Given the description of an element on the screen output the (x, y) to click on. 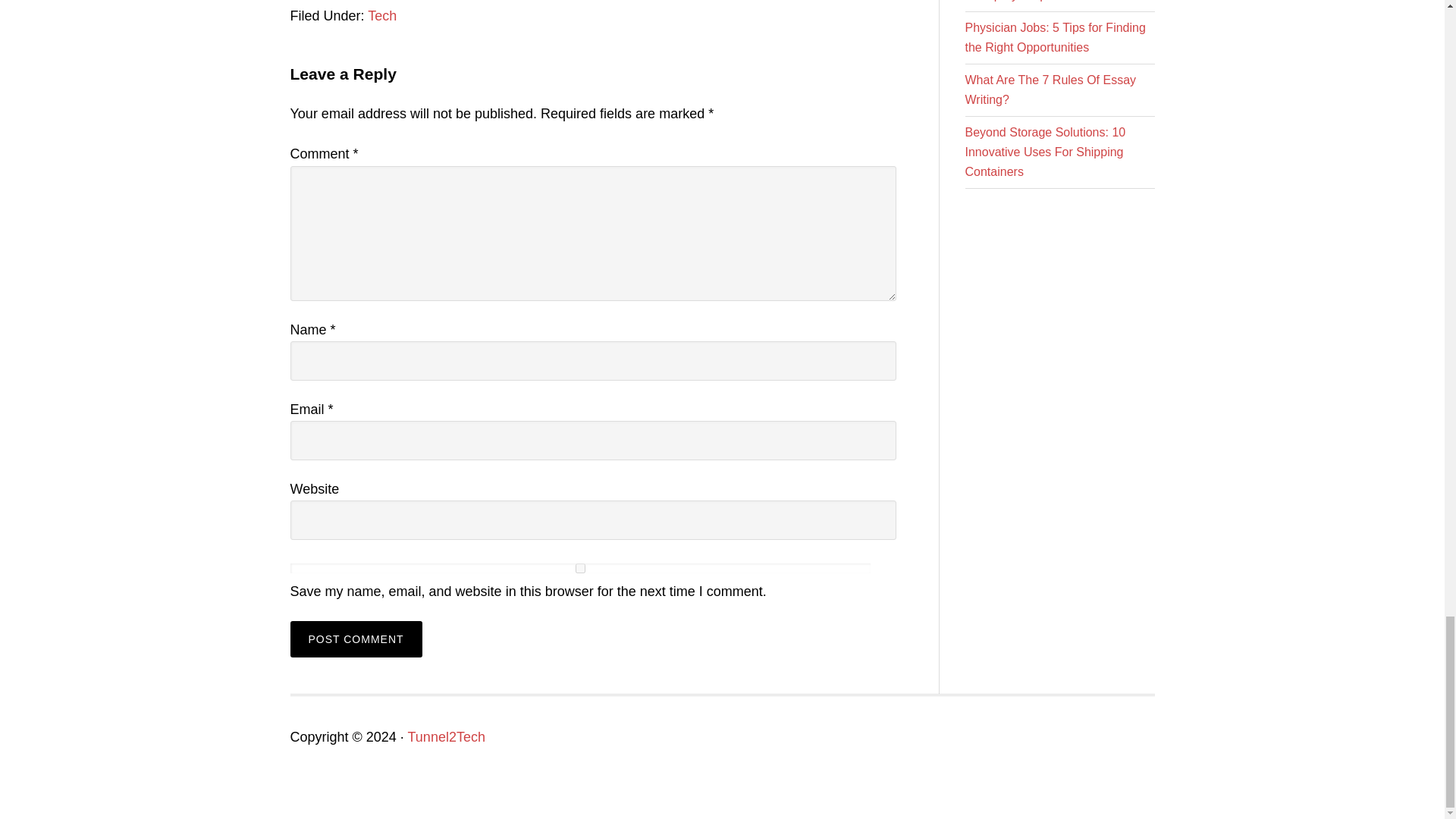
Tech (382, 15)
Post Comment (355, 638)
yes (579, 568)
Post Comment (355, 638)
